Given the description of an element on the screen output the (x, y) to click on. 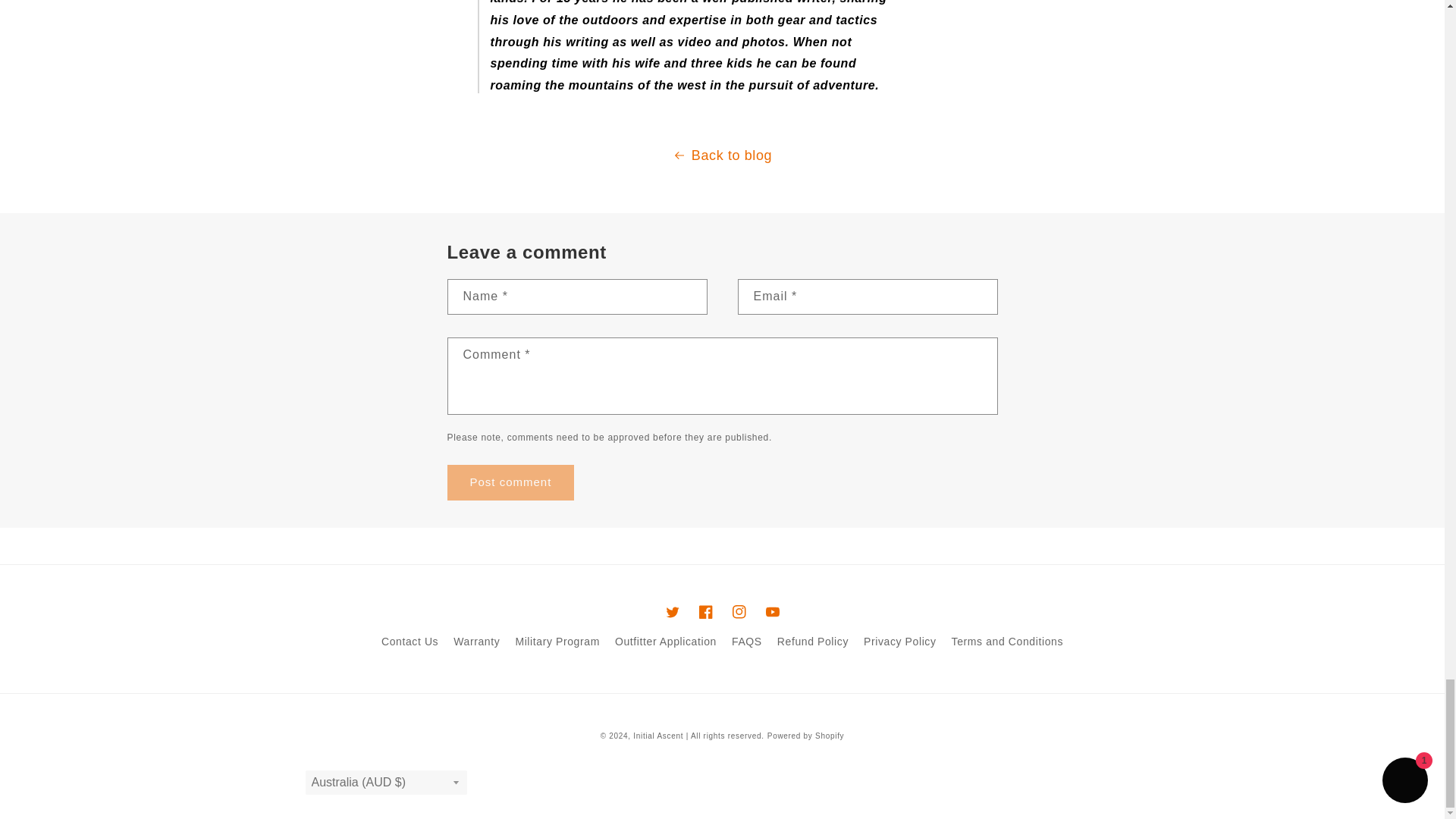
Post comment (510, 482)
